Given the description of an element on the screen output the (x, y) to click on. 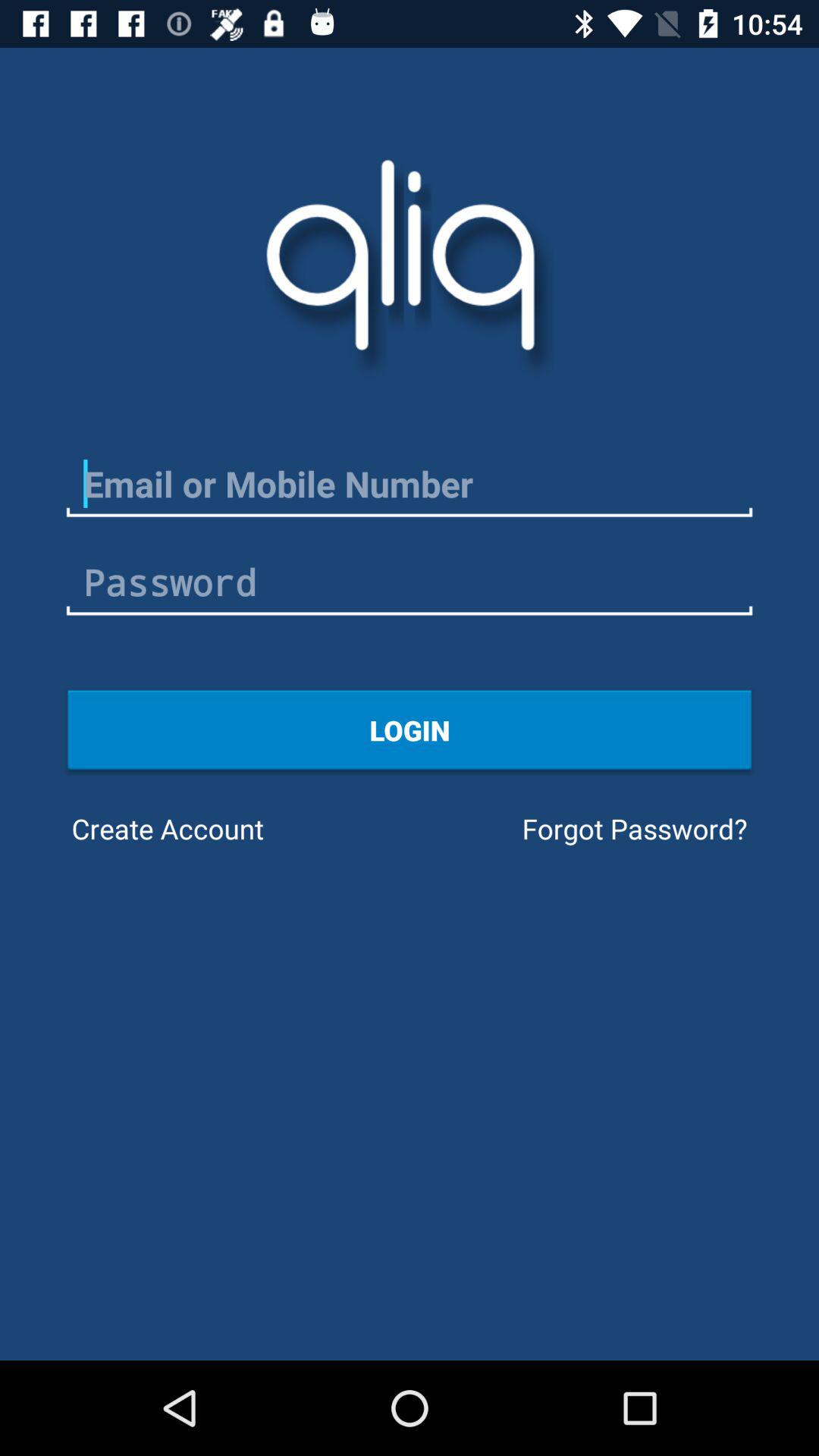
enter your password here (409, 582)
